Given the description of an element on the screen output the (x, y) to click on. 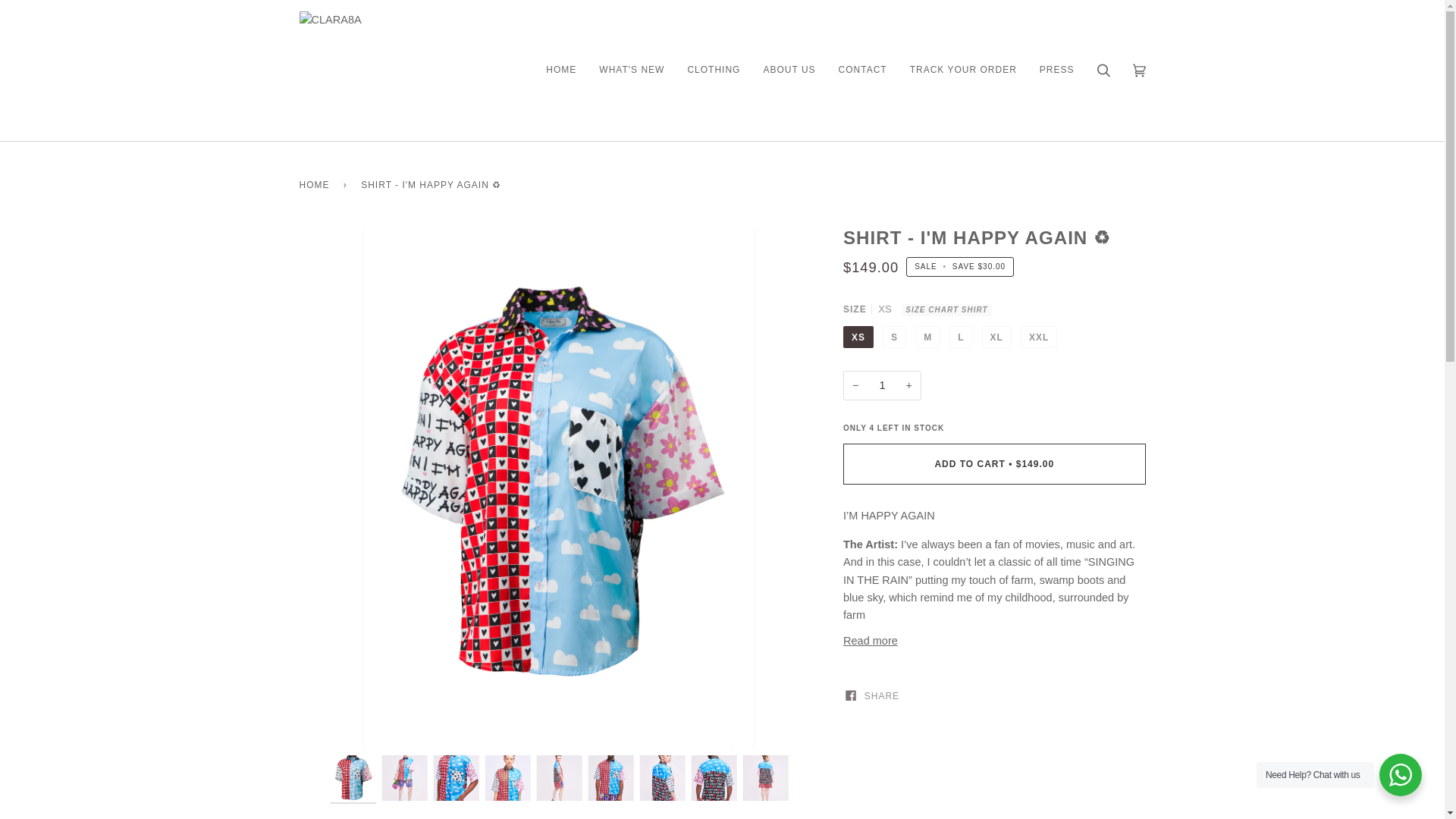
TRACK YOUR ORDER (962, 70)
Back to the frontpage (316, 184)
1 (882, 385)
